Given the description of an element on the screen output the (x, y) to click on. 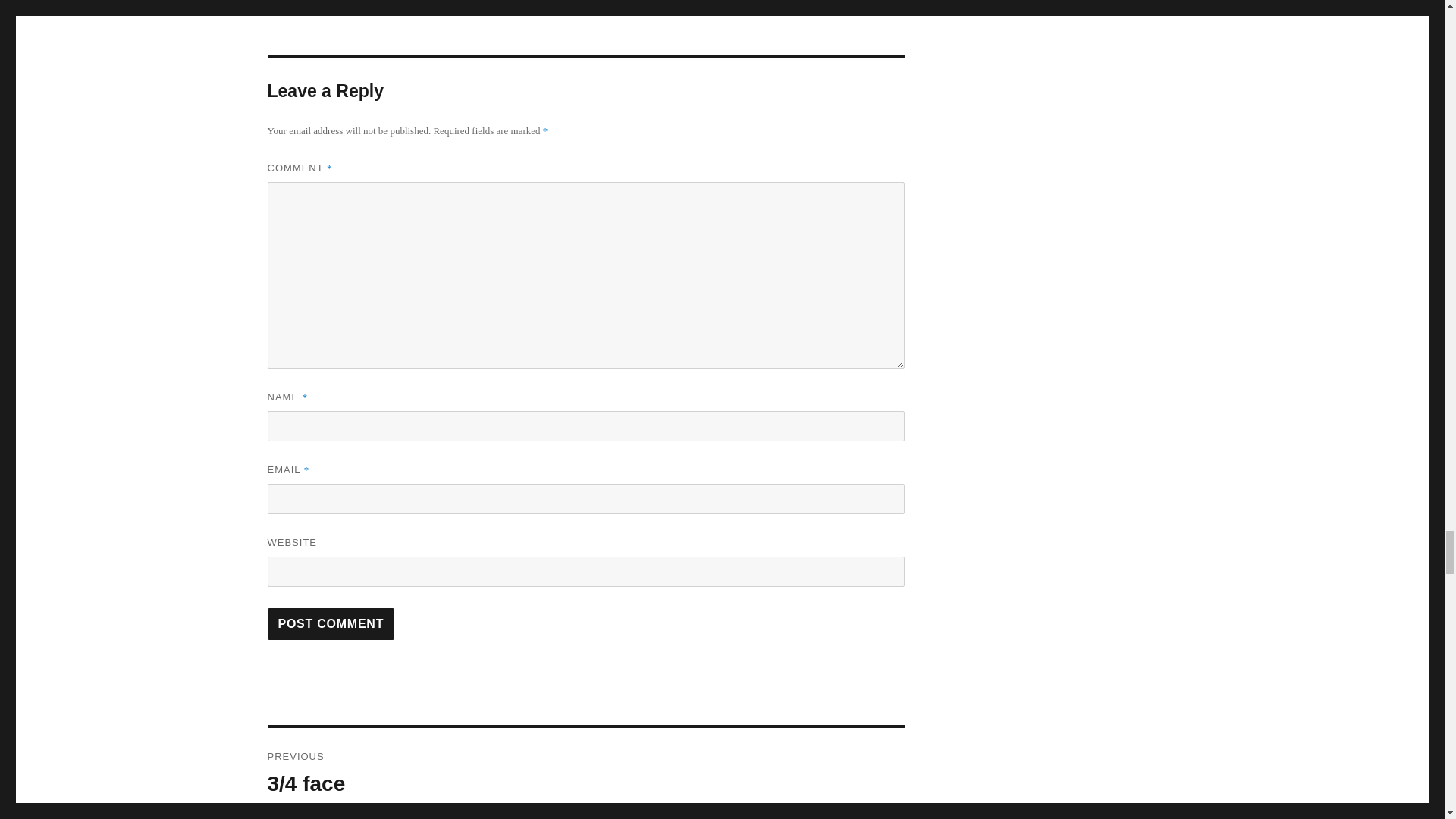
Post Comment (330, 623)
